Given the description of an element on the screen output the (x, y) to click on. 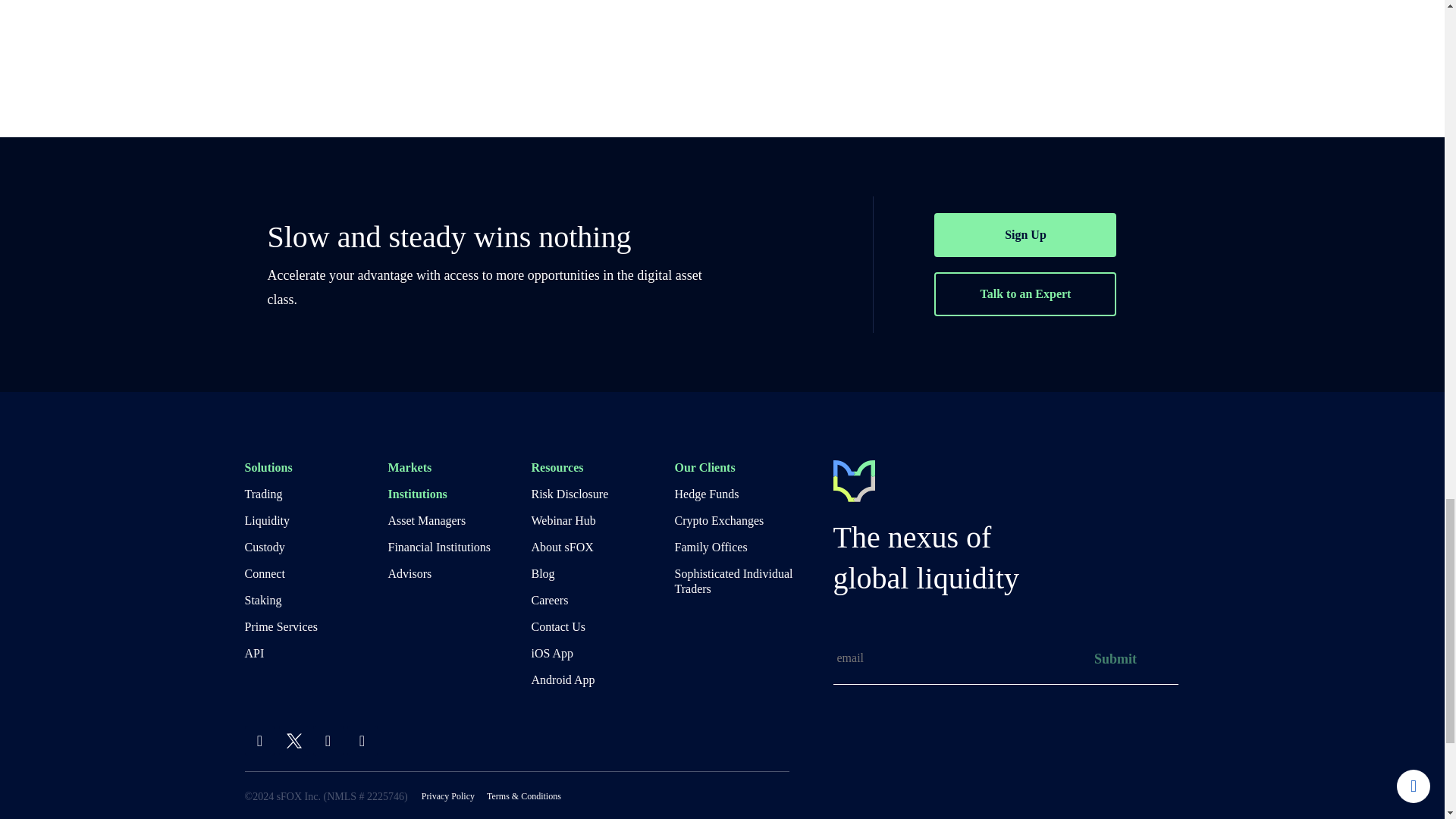
Connect (315, 573)
Sign Up (1025, 234)
Talk to an Expert (1025, 293)
Staking (315, 600)
Liquidity (315, 520)
Trading (315, 494)
Solutions (315, 467)
Prime Services (315, 626)
Custody (315, 547)
